Given the description of an element on the screen output the (x, y) to click on. 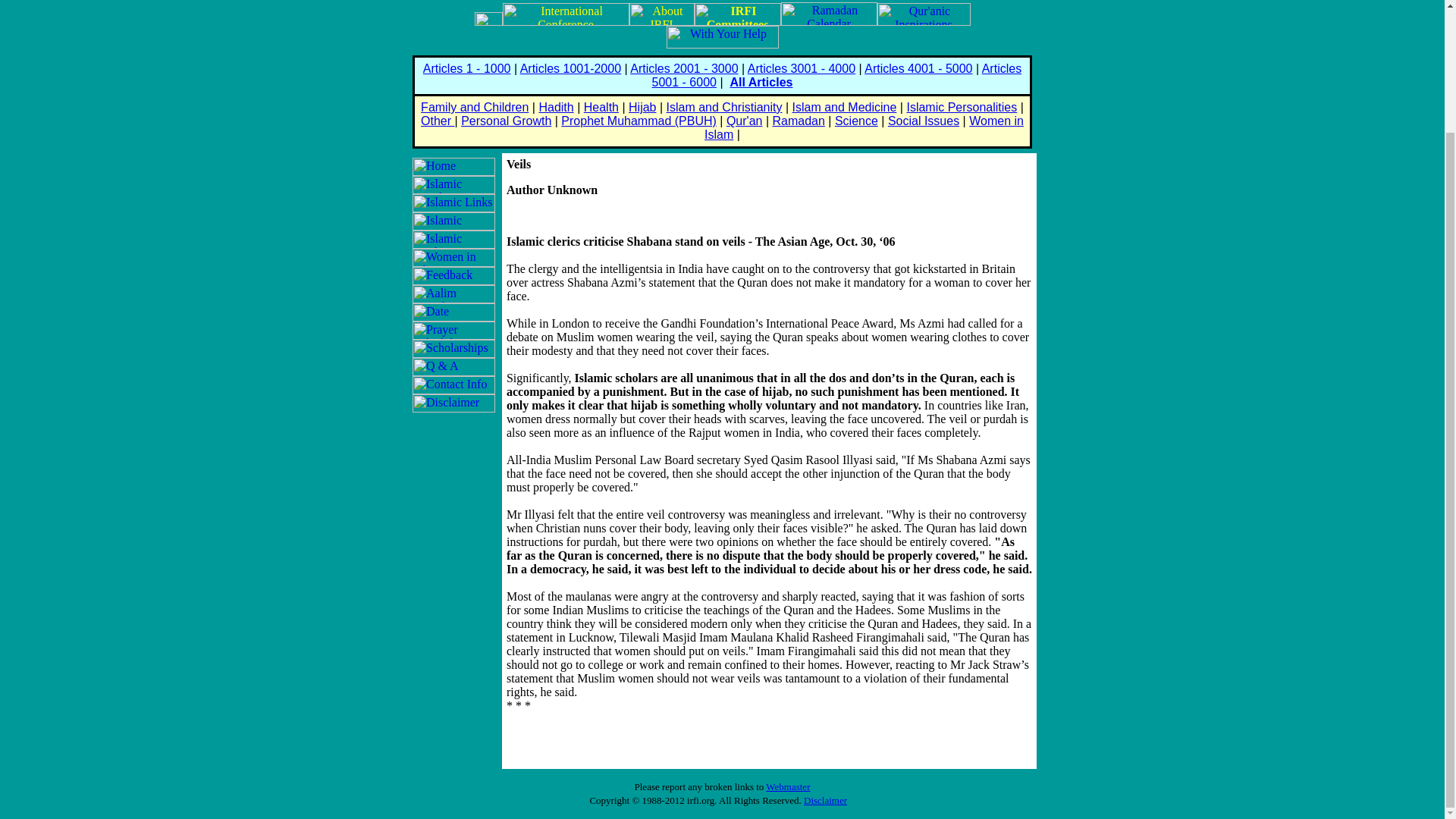
Articles 4001 - 5000 (918, 68)
Family and Children (474, 106)
Science (855, 120)
Hadith (555, 106)
Ramadan (797, 120)
Articles 1 - 1000 (467, 68)
Women in Islam (863, 127)
Other (437, 120)
Articles 2001 - 3000 (684, 68)
Articles 5001 - 6000 (837, 75)
Hijab (642, 106)
Articles 3001 - 4000 (802, 68)
Personal Growth (506, 120)
Health (600, 106)
Islam and Christianity (724, 106)
